Given the description of an element on the screen output the (x, y) to click on. 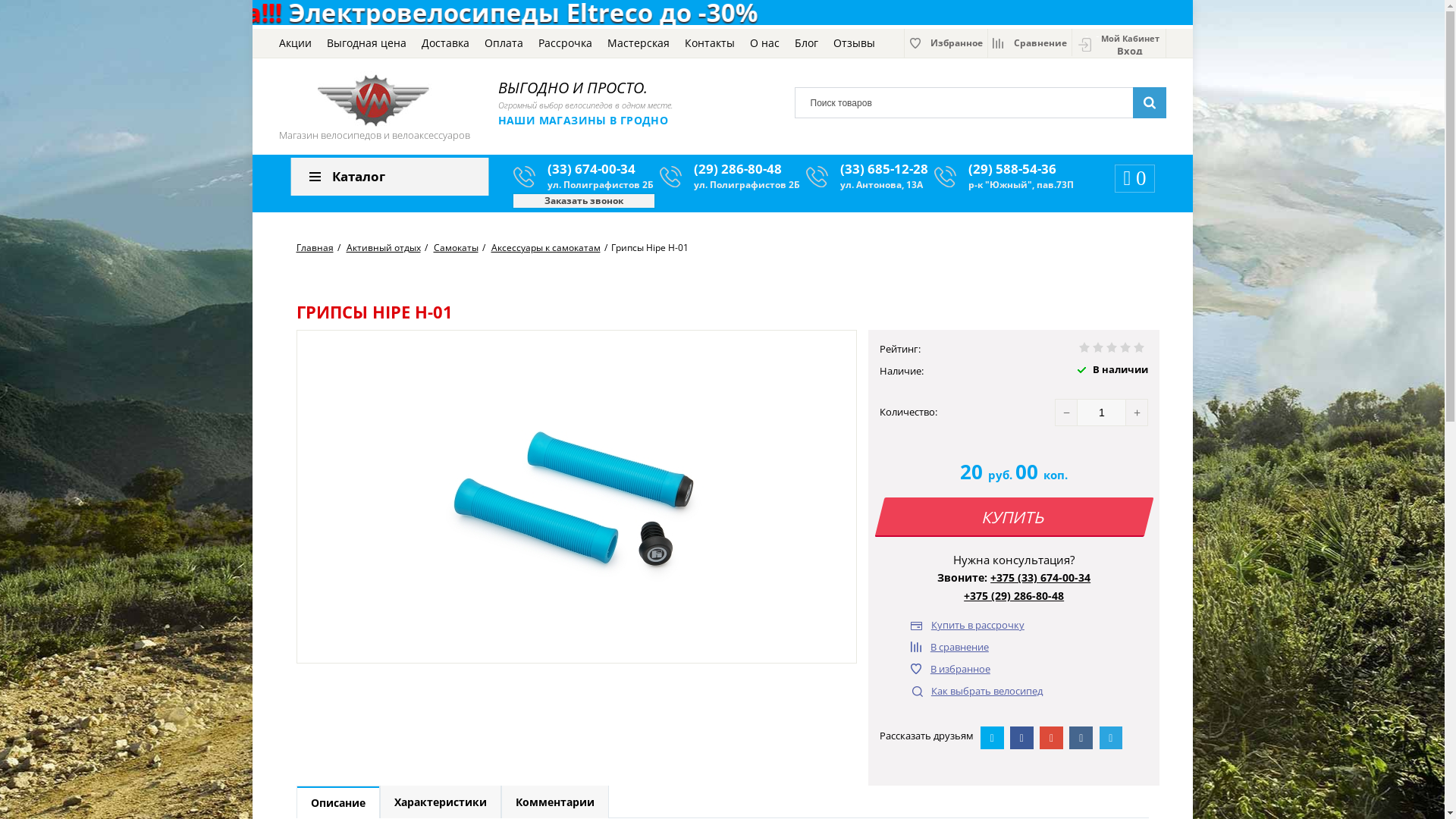
0 Element type: text (1134, 176)
(33) 674-00-34 Element type: text (591, 167)
(29) 588-54-36 Element type: text (1012, 167)
+375 (29) 286-80-48 Element type: text (1013, 595)
+375 (33) 674-00-34 Element type: text (1040, 577)
(29) 286-80-48 Element type: text (737, 167)
(33) 685-12-28 Element type: text (884, 167)
